Given the description of an element on the screen output the (x, y) to click on. 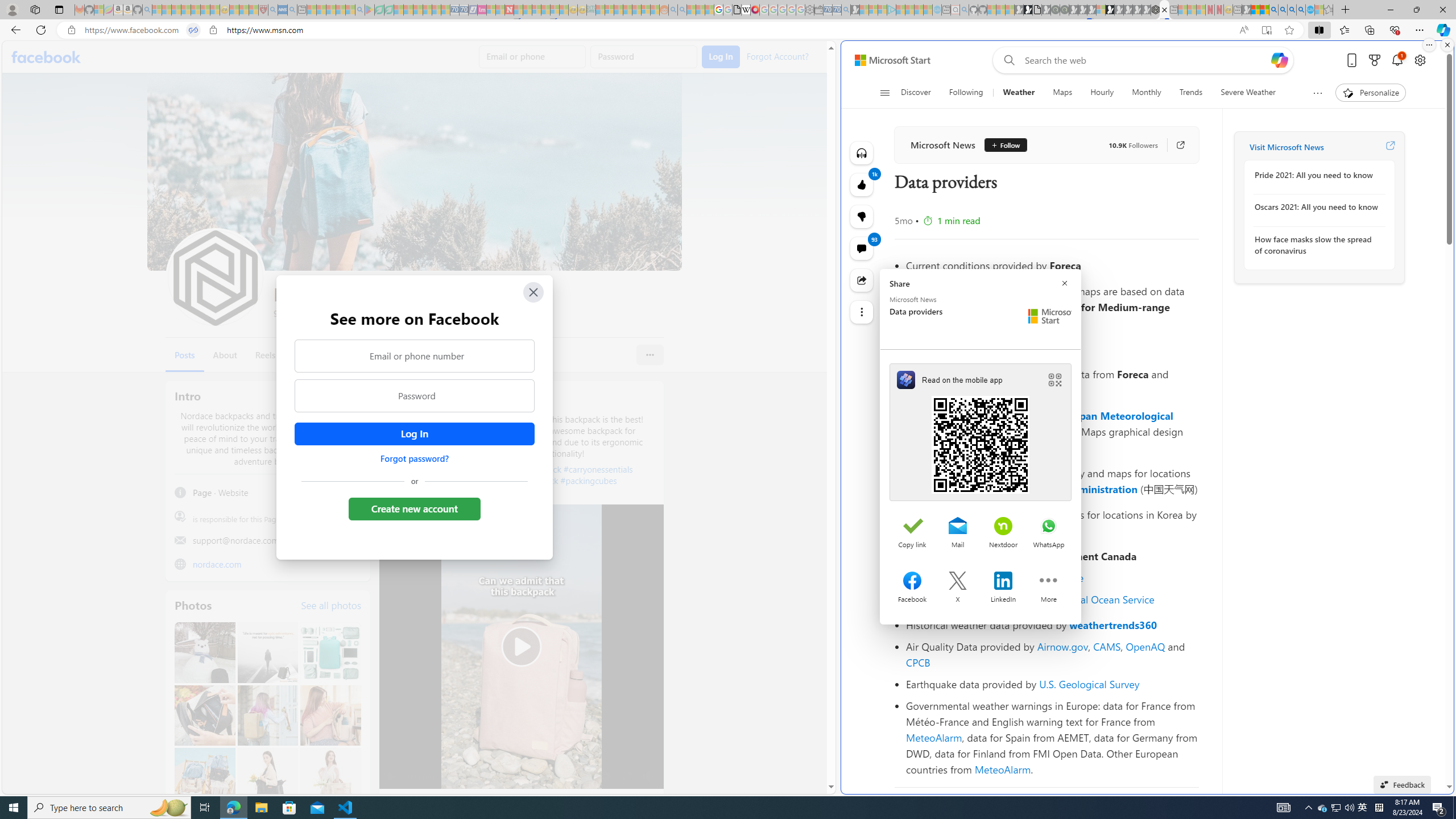
Bing AI - Search (1272, 9)
Tabs in split screen (193, 29)
Terms of Use Agreement - Sleeping (378, 9)
Monthly (1146, 92)
Go to publisher's site (1174, 144)
